Given the description of an element on the screen output the (x, y) to click on. 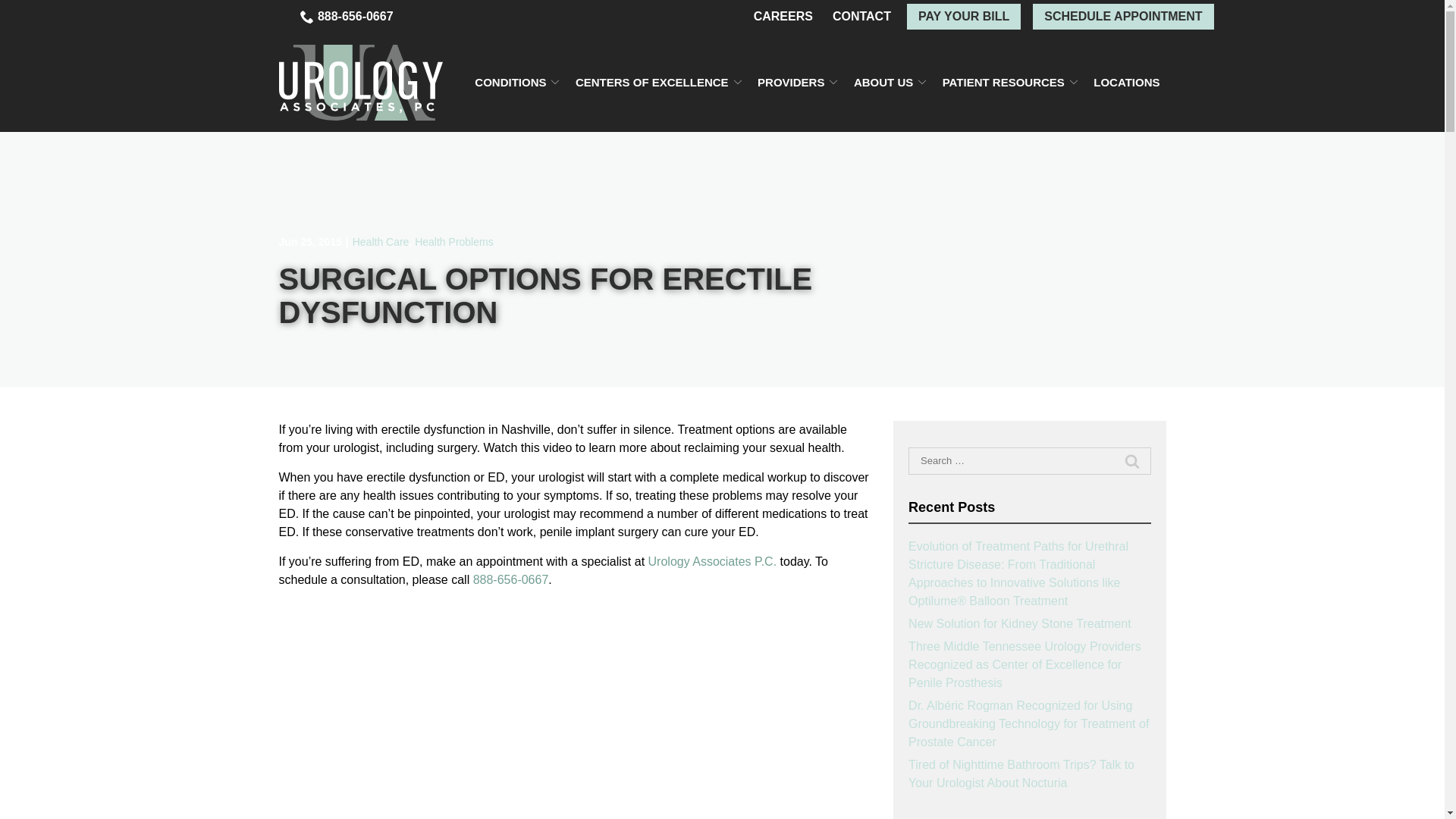
888-656-0667 (347, 16)
PAY YOUR BILL (963, 16)
CAREERS (782, 16)
CENTERS OF EXCELLENCE (658, 82)
PROVIDERS (797, 82)
SCHEDULE APPOINTMENT (1122, 16)
CONDITIONS (516, 82)
CONTACT (861, 16)
Dr. Whitson Lowe on Erectile Dysfunction Surgical Options (468, 707)
